Given the description of an element on the screen output the (x, y) to click on. 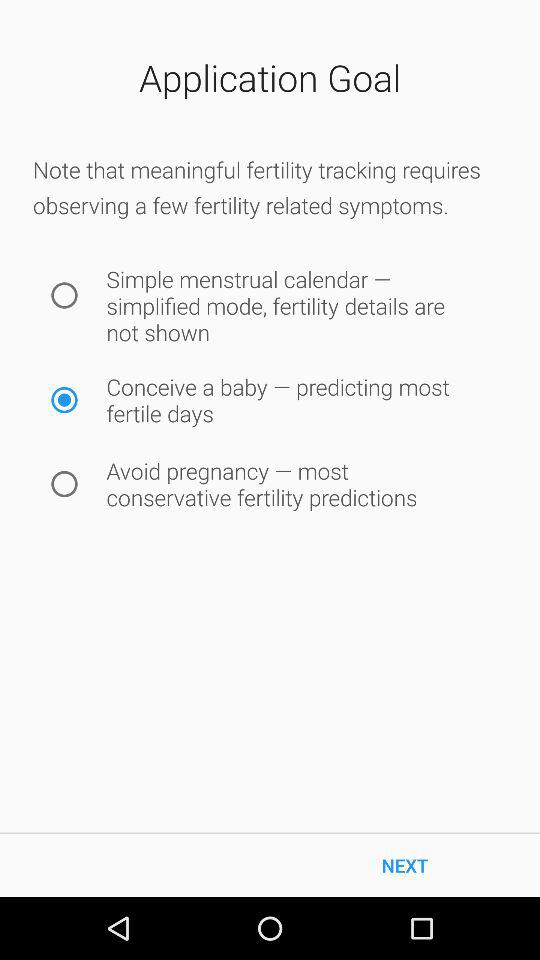
tap icon next to avoid pregnancy most icon (64, 483)
